Given the description of an element on the screen output the (x, y) to click on. 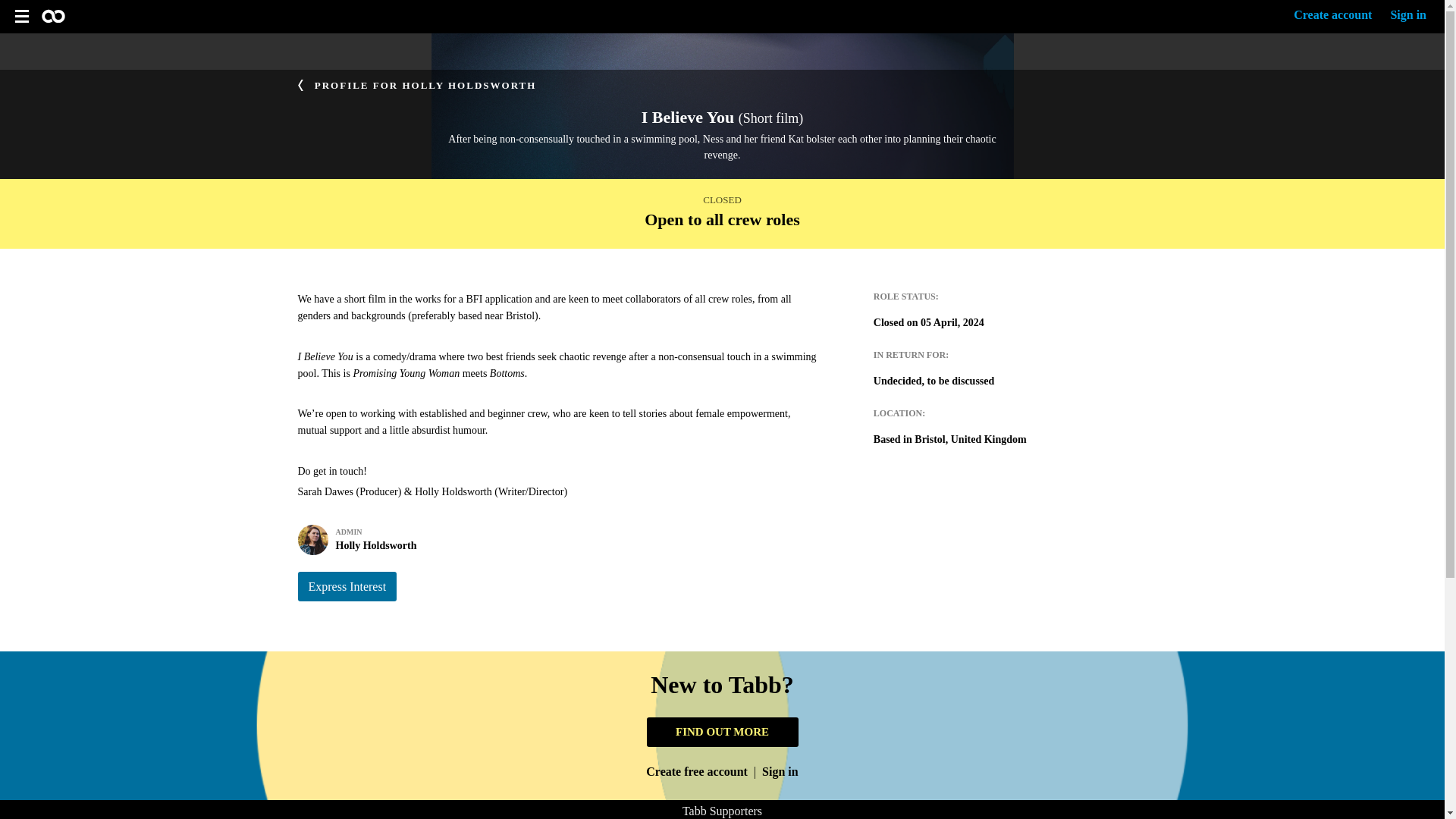
Sign in (1408, 15)
Create account (1332, 15)
Create free account (697, 771)
FIND OUT MORE (721, 731)
Express Interest (346, 586)
PROFILE FOR HOLLY HOLDSWORTH (416, 83)
Sign in (556, 540)
